Given the description of an element on the screen output the (x, y) to click on. 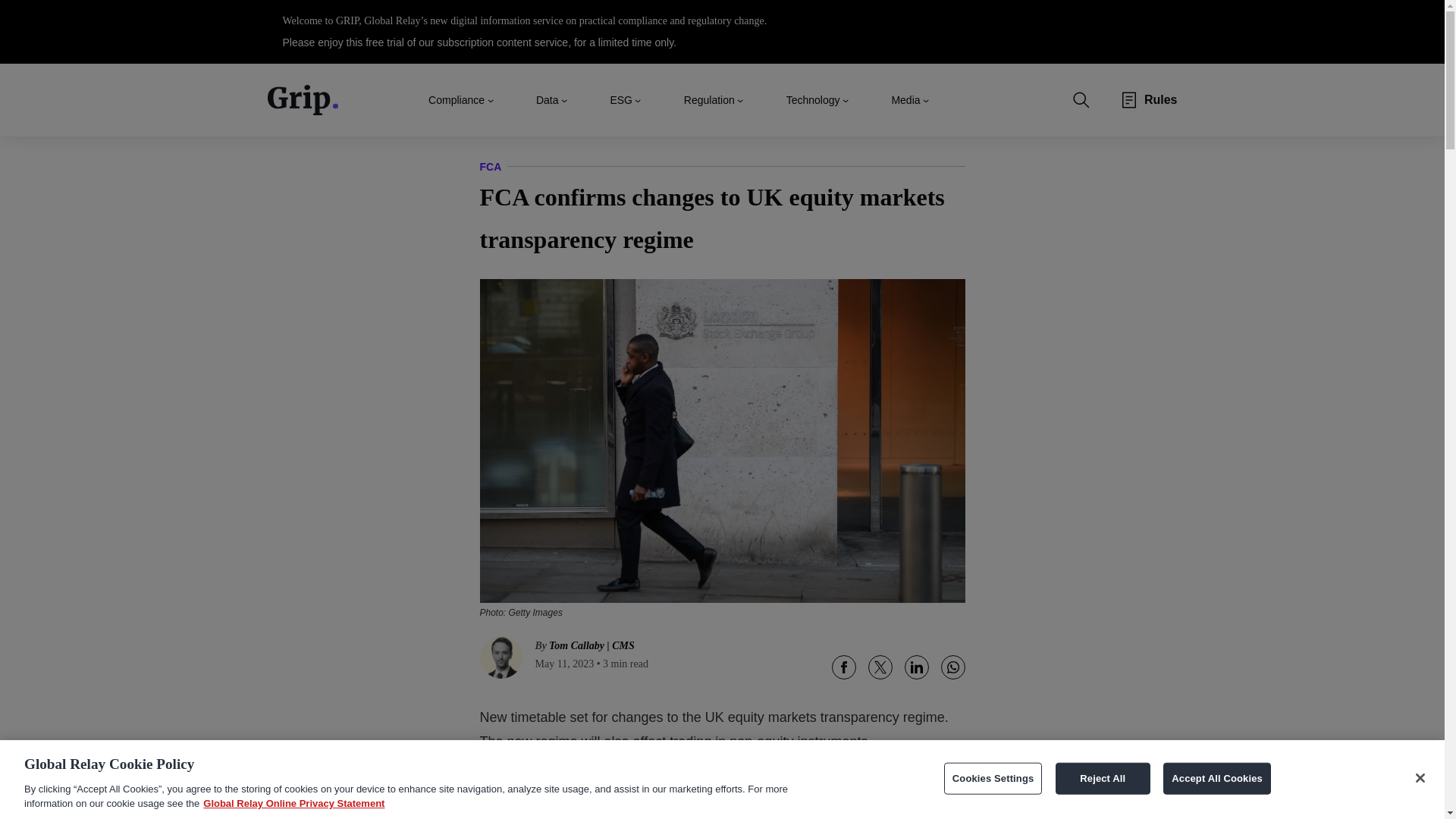
FCA (489, 167)
Click to share on WhatsApp (951, 667)
ESG (620, 99)
Click to share on LinkedIn (916, 667)
Media (905, 99)
Compliance (456, 99)
Rules (1160, 99)
Data (547, 99)
Technology (813, 99)
Click to share on Twitter (879, 667)
Click to share on Facebook (843, 667)
Regulation (709, 99)
